Given the description of an element on the screen output the (x, y) to click on. 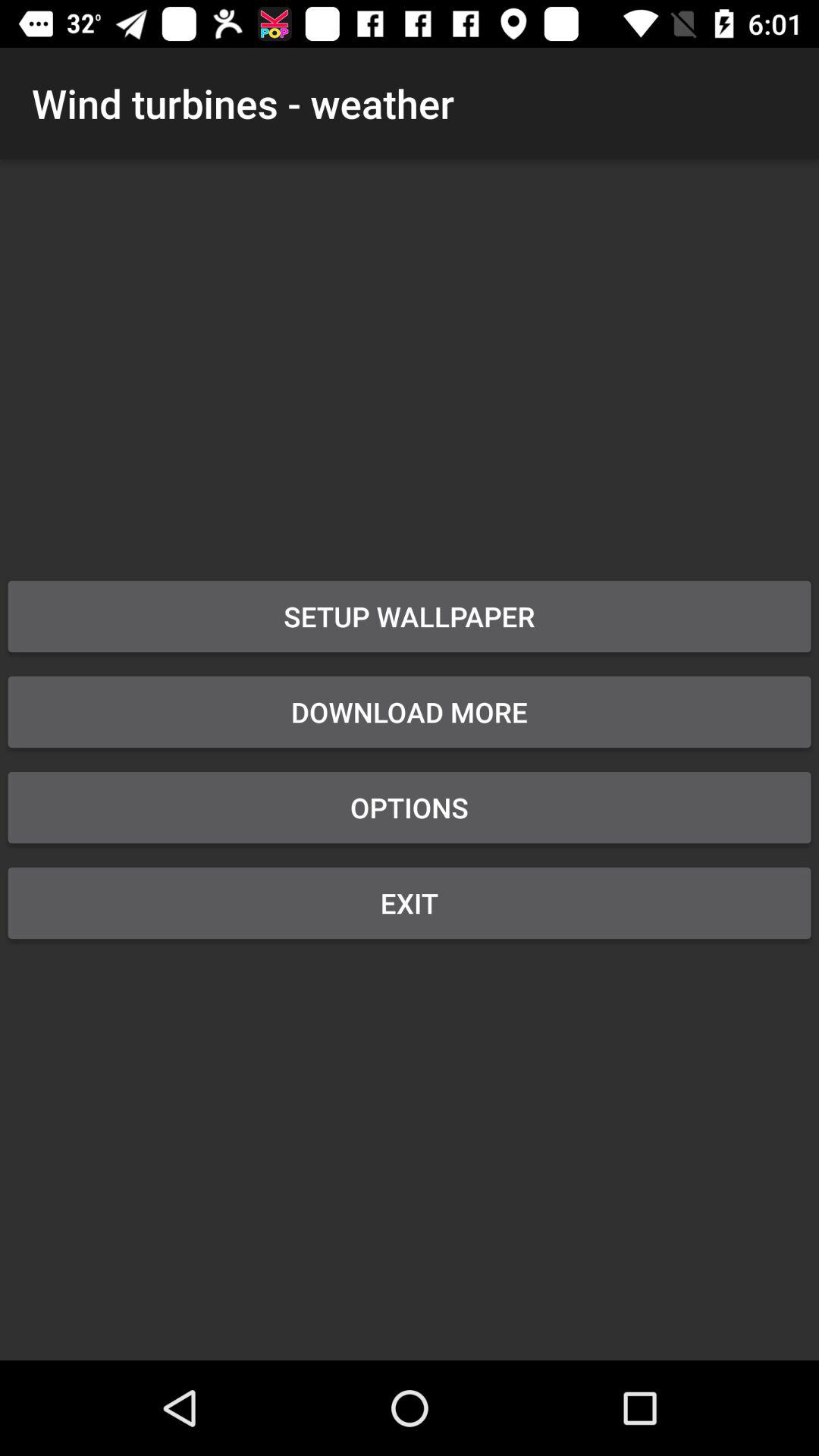
click the download more button (409, 711)
